Given the description of an element on the screen output the (x, y) to click on. 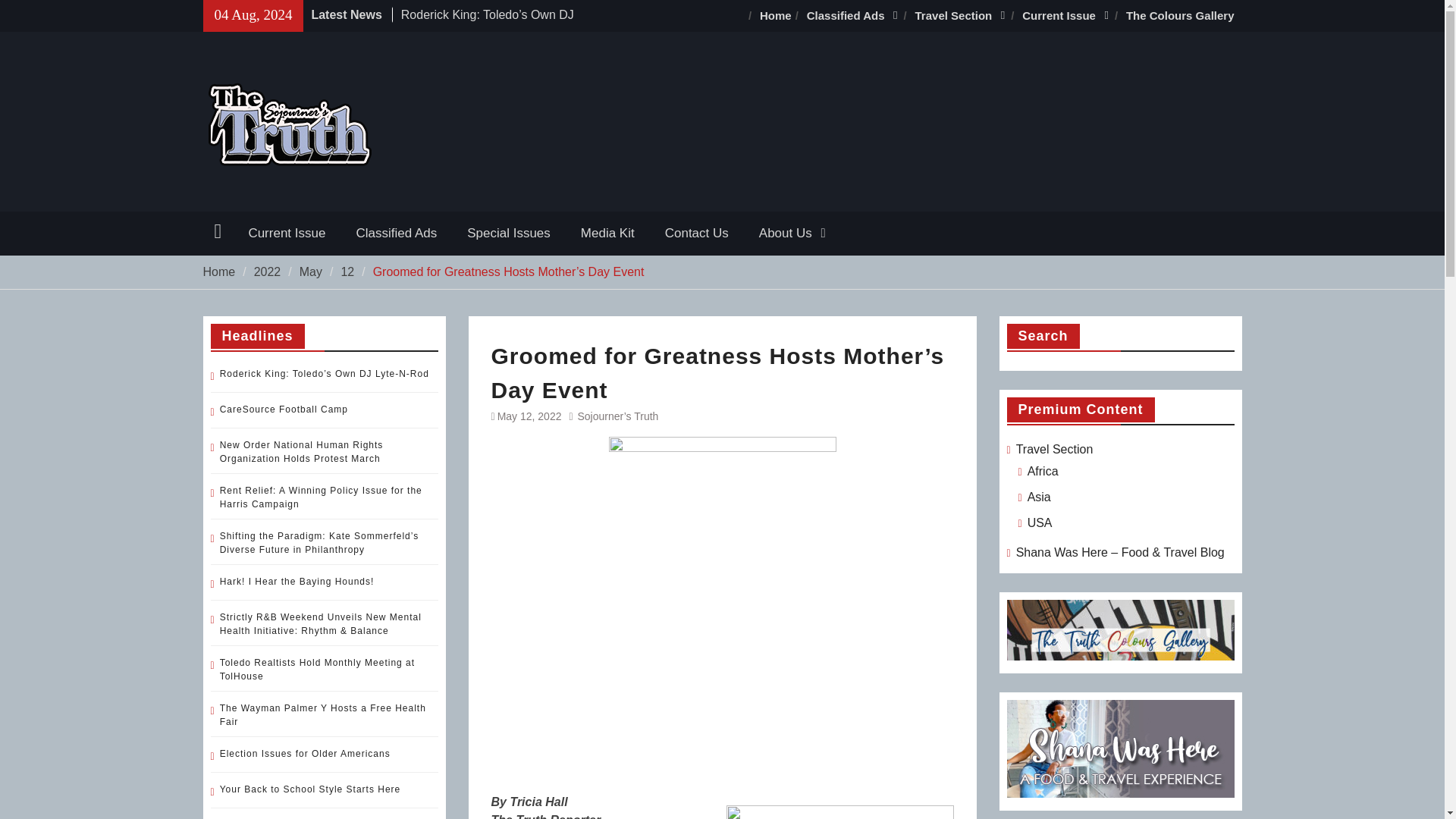
Home (775, 15)
The Colours Gallery (1179, 15)
Classified Ads (853, 15)
Current Issue (286, 233)
Current Issue (1066, 15)
Travel Section (960, 15)
